Given the description of an element on the screen output the (x, y) to click on. 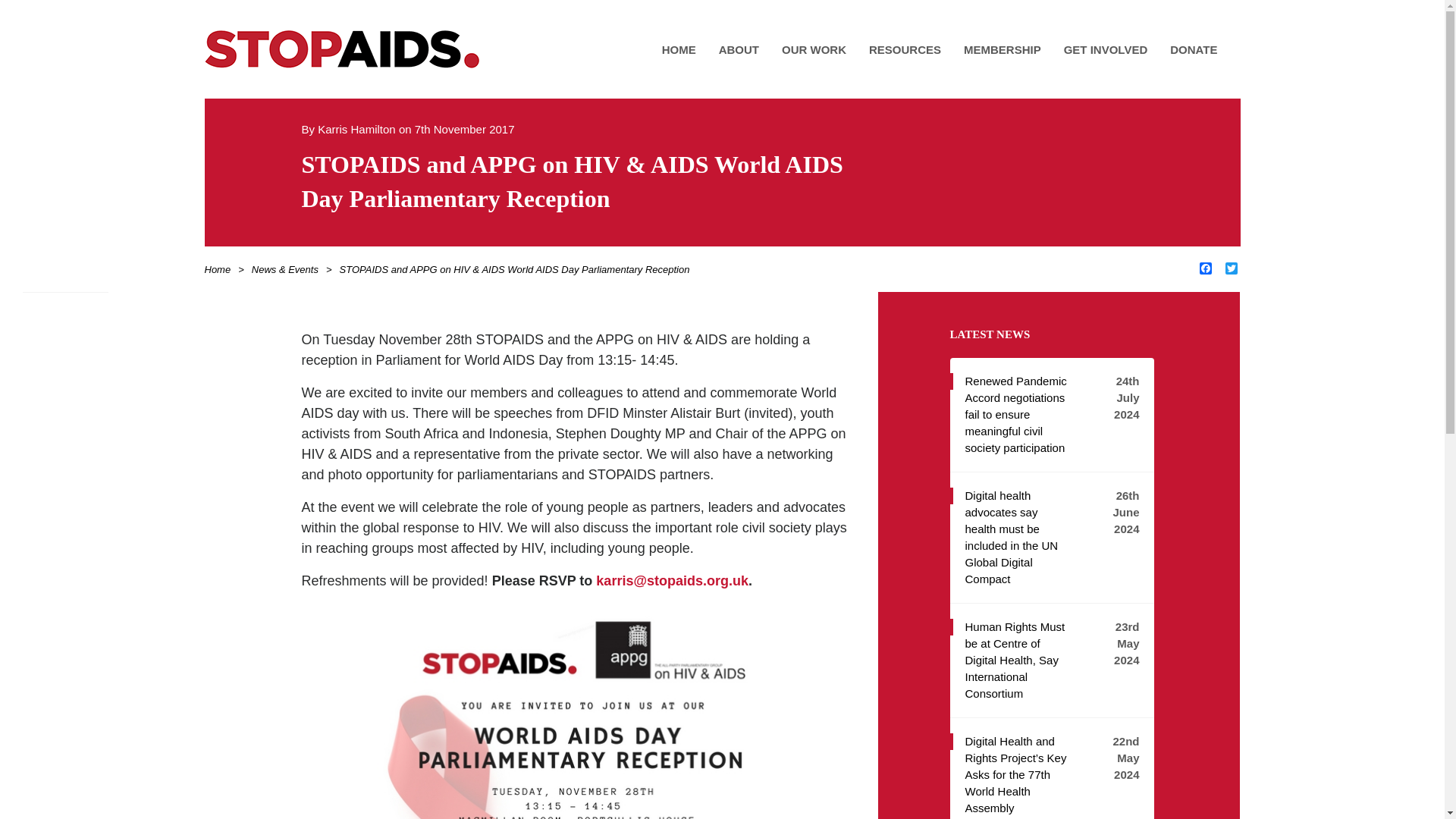
DONATE (1193, 49)
Karris Hamilton (357, 128)
Home (221, 269)
RESOURCES (904, 49)
ABOUT (738, 49)
Twitter (1231, 269)
GET INVOLVED (1105, 49)
Facebook (1205, 269)
